Given the description of an element on the screen output the (x, y) to click on. 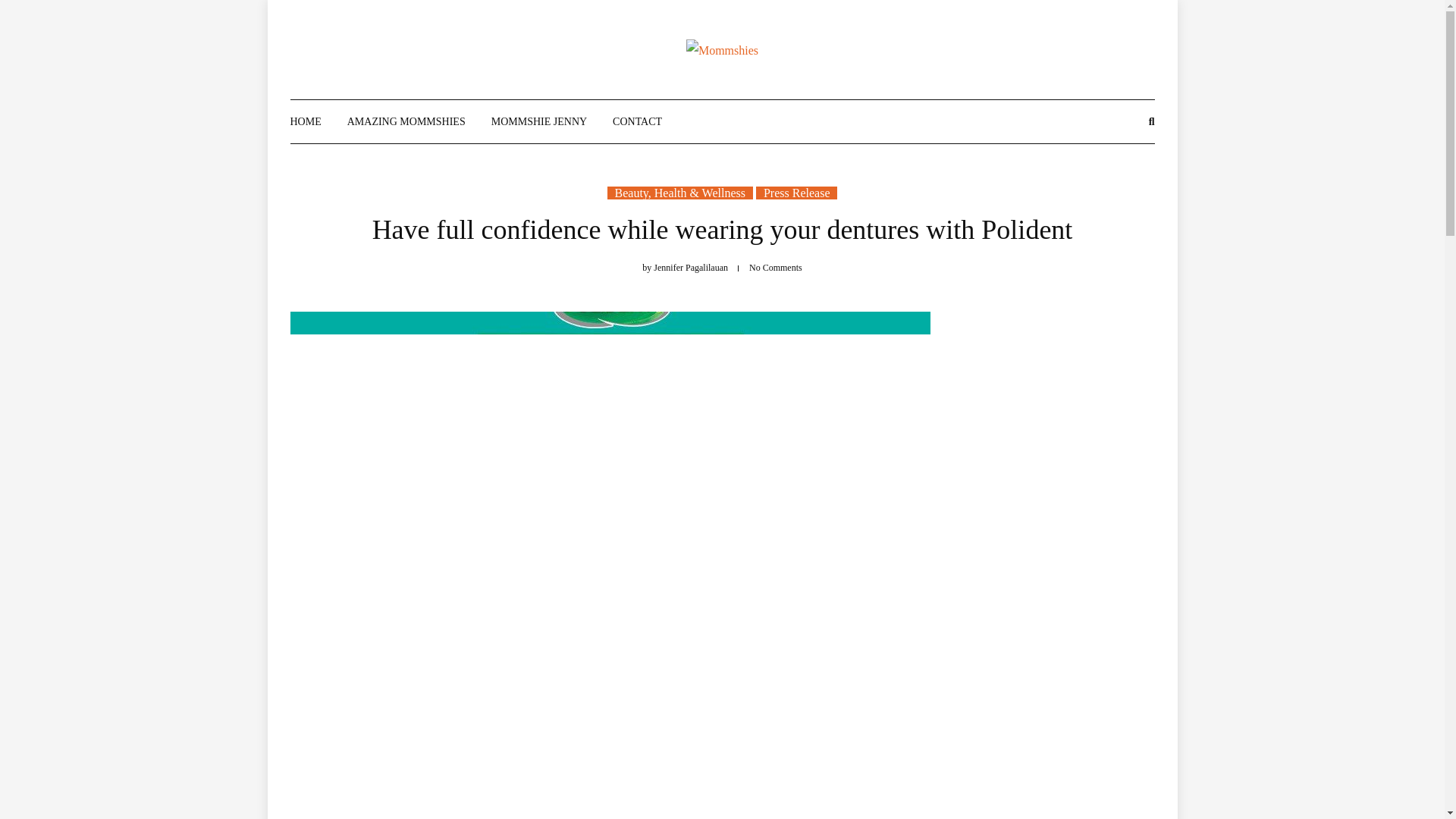
AMAZING MOMMSHIES (406, 121)
MOMMSHIE JENNY (539, 121)
Press Release (796, 192)
CONTACT (637, 121)
